Given the description of an element on the screen output the (x, y) to click on. 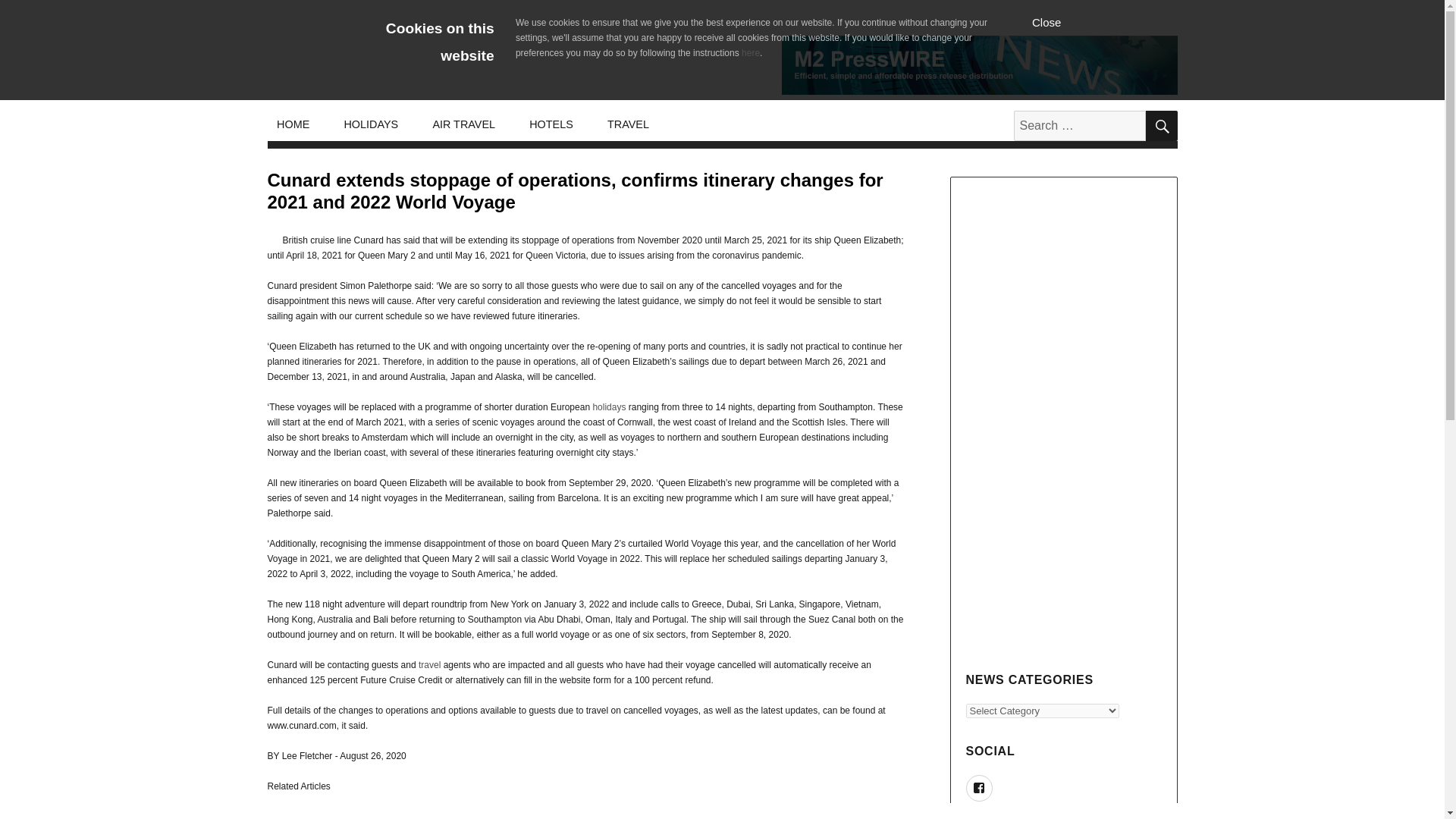
FACEBOOK (979, 787)
HOLIDAYS (370, 124)
SEARCH (1160, 125)
HOTELS (551, 124)
HOME (292, 124)
here (750, 52)
TRAVEL (627, 124)
Close (1046, 21)
holidays (609, 407)
AIR TRAVEL (464, 124)
